Given the description of an element on the screen output the (x, y) to click on. 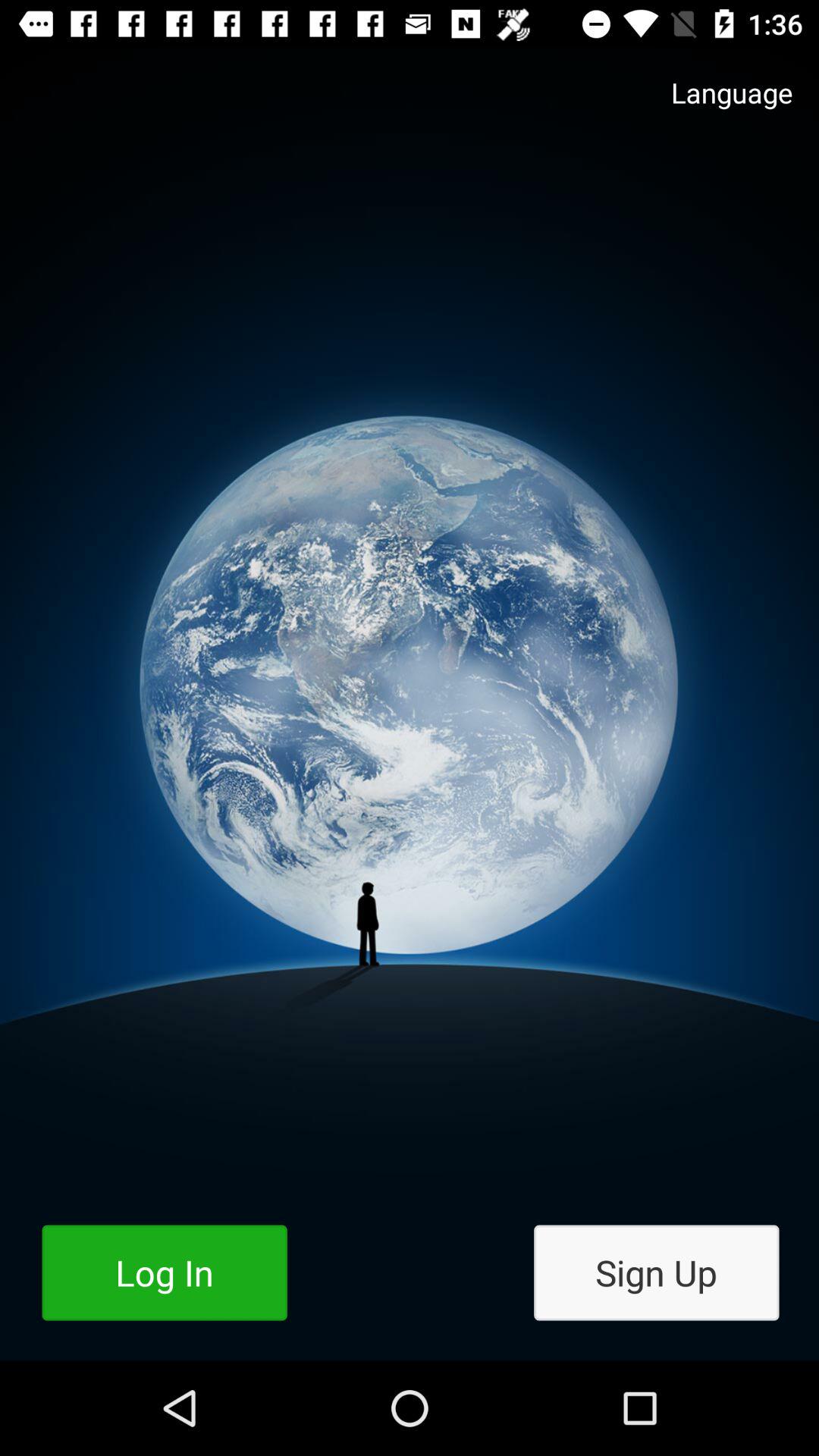
turn off button at the bottom right corner (656, 1272)
